Given the description of an element on the screen output the (x, y) to click on. 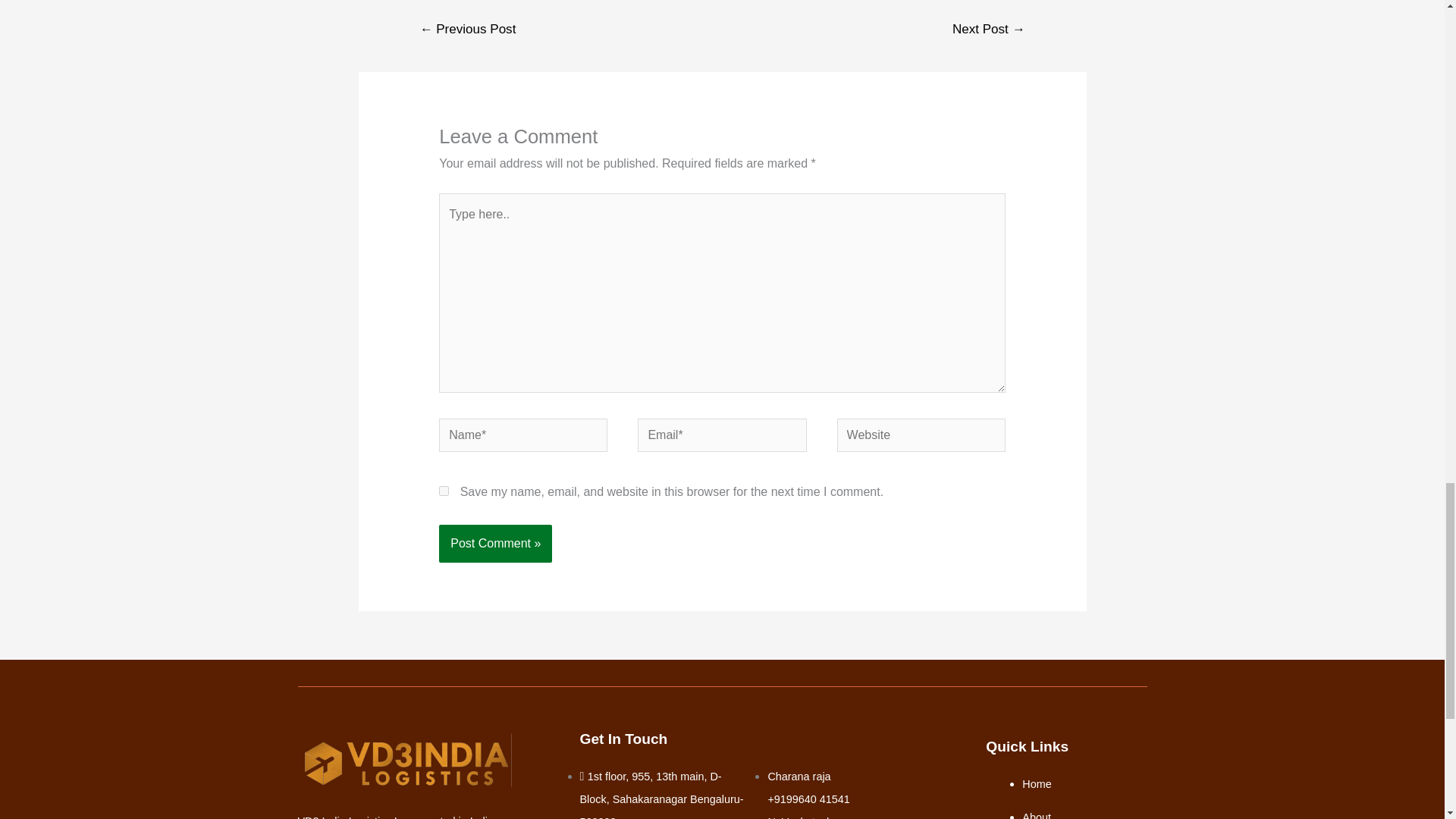
Home (1036, 784)
yes (443, 491)
About (1036, 815)
